Given the description of an element on the screen output the (x, y) to click on. 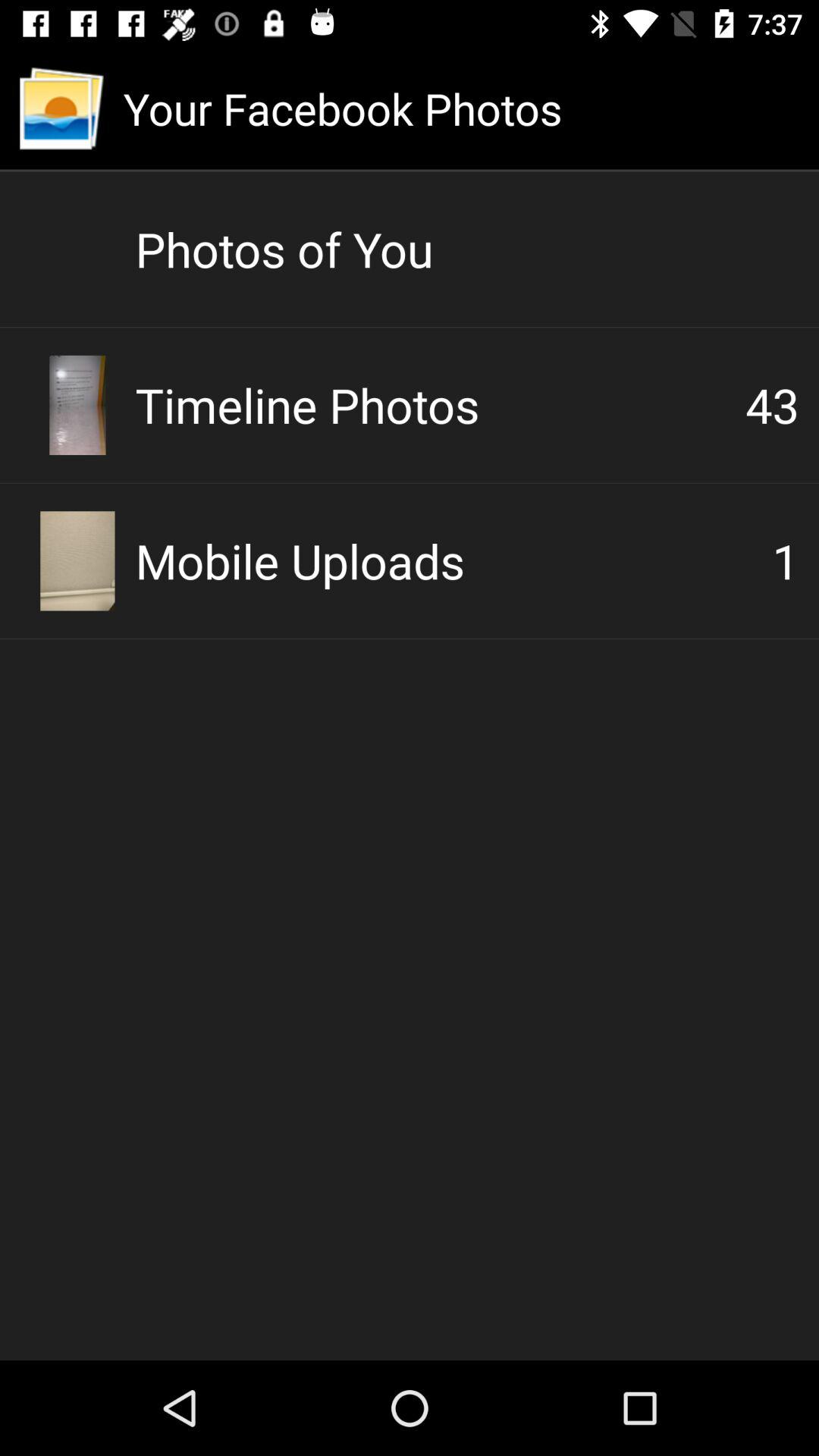
open the 43 (772, 404)
